Given the description of an element on the screen output the (x, y) to click on. 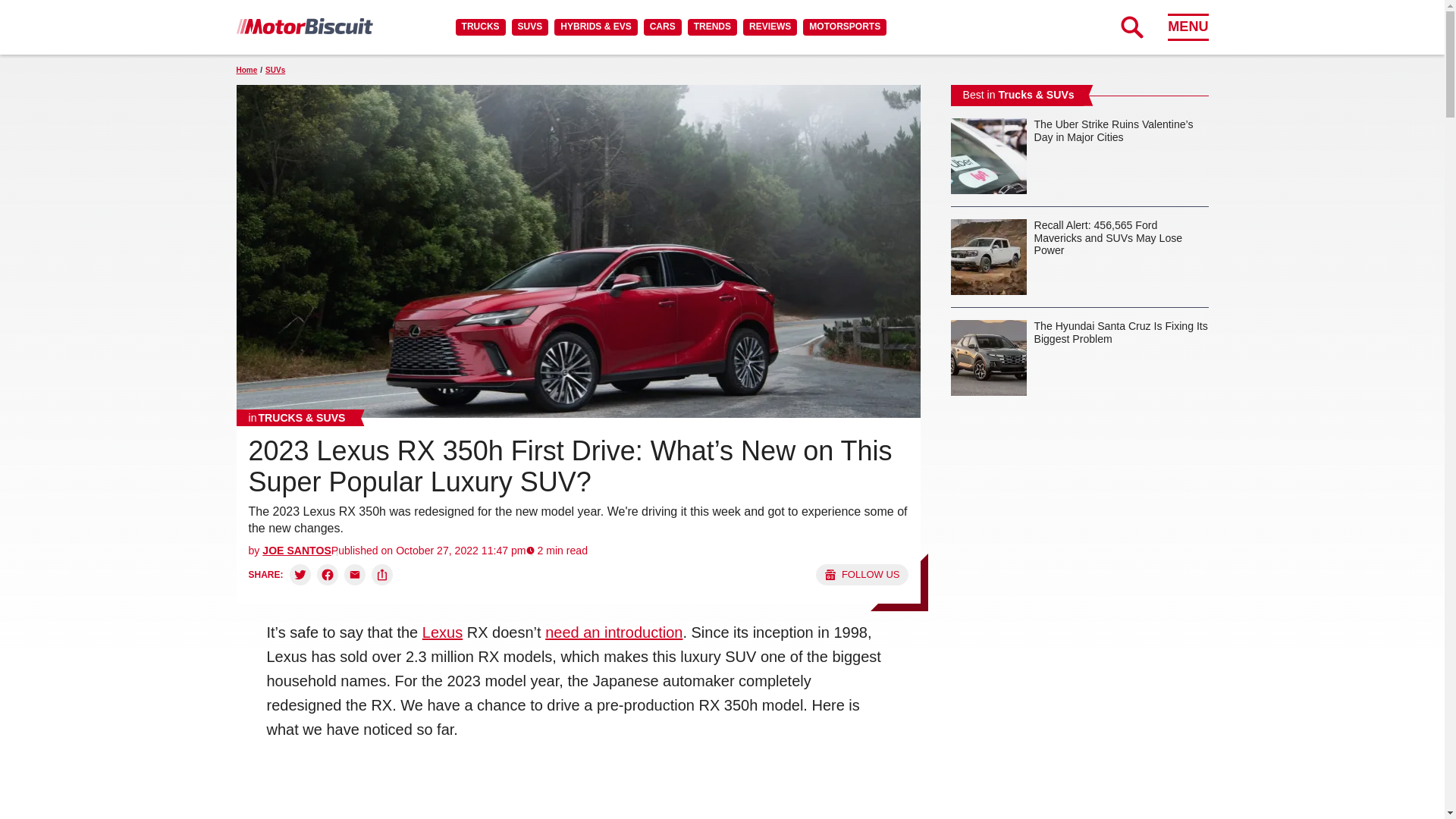
SUVS (530, 26)
REVIEWS (769, 26)
TRUCKS (480, 26)
TRENDS (711, 26)
CARS (662, 26)
Copy link and share:  (382, 574)
MotorBiscuit (303, 26)
Follow us on Google News (861, 574)
Expand Search (1131, 26)
